Given the description of an element on the screen output the (x, y) to click on. 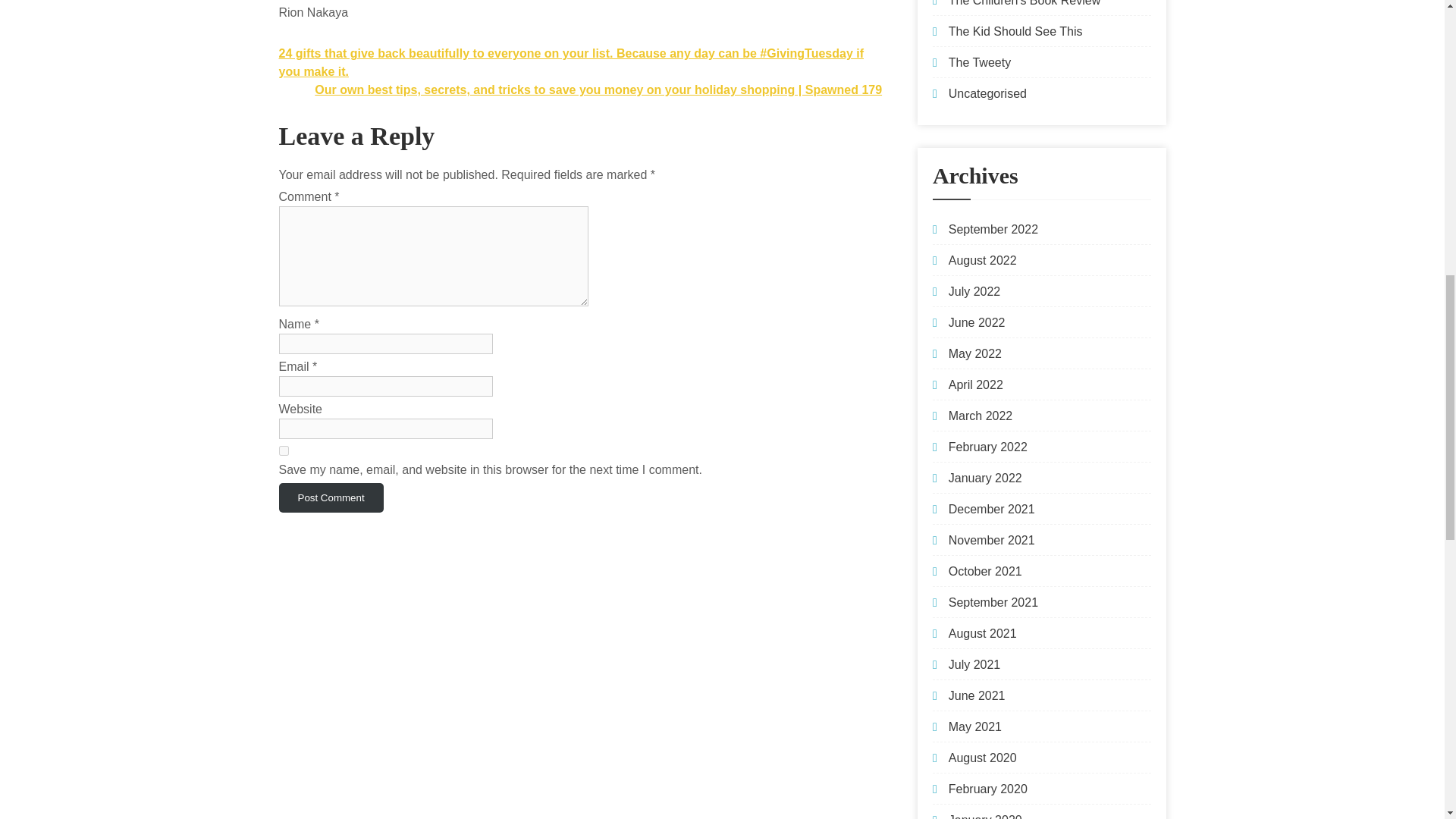
Post Comment (331, 497)
The Children's Book Review (1024, 3)
The Kid Should See This (1016, 31)
yes (283, 450)
Post Comment (331, 497)
